Given the description of an element on the screen output the (x, y) to click on. 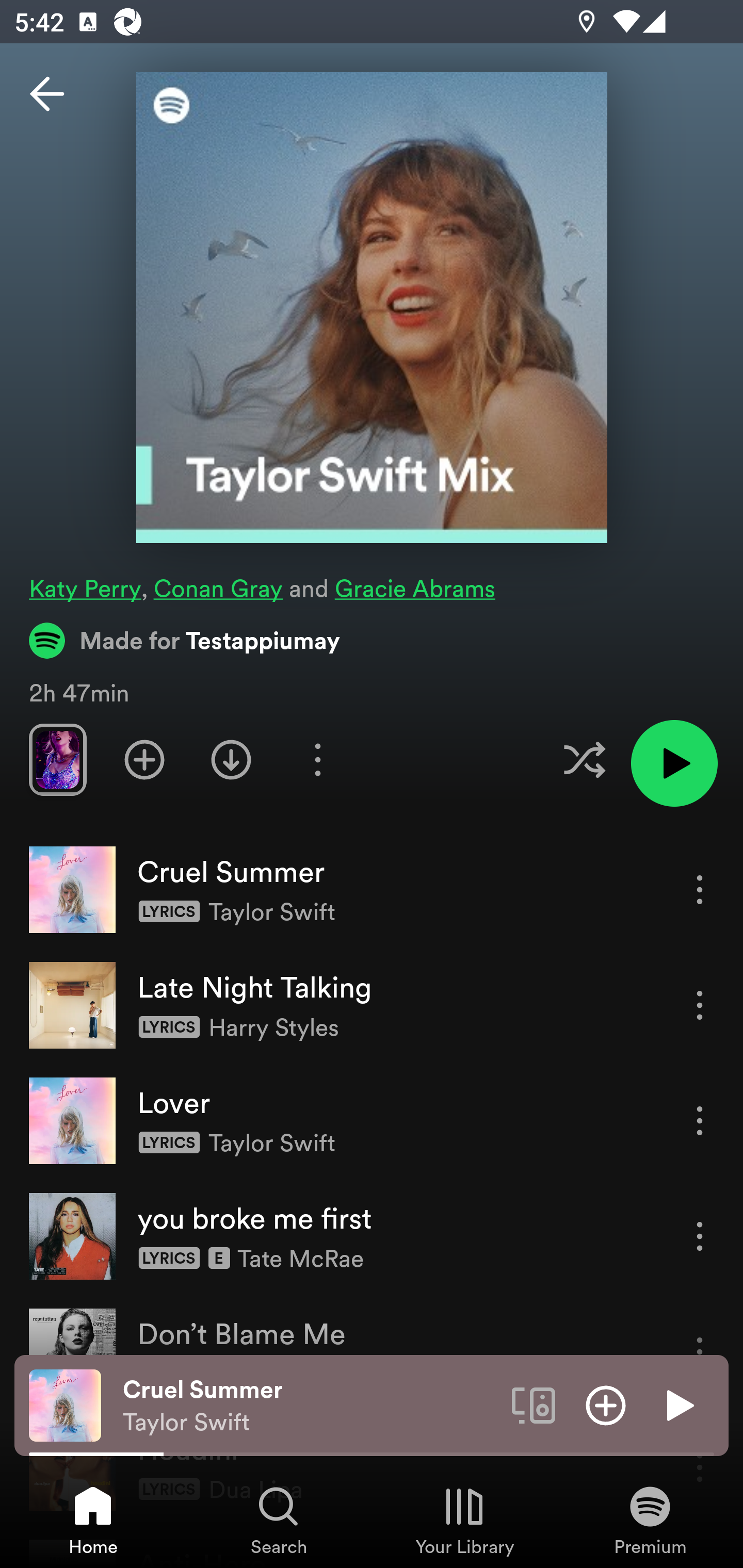
Back (46, 93)
Made for Testappiumay (184, 640)
Add playlist to Your Library (144, 759)
Download (230, 759)
More options for playlist Taylor Swift Mix (317, 759)
Enable shuffle for this playlist (583, 759)
Play playlist (674, 763)
More options for song Cruel Summer (699, 889)
More options for song Late Night Talking (699, 1004)
More options for song Lover (699, 1120)
More options for song you broke me first (699, 1236)
Cruel Summer Taylor Swift (309, 1405)
The cover art of the currently playing track (64, 1404)
Connect to a device. Opens the devices menu (533, 1404)
Add item (605, 1404)
Play (677, 1404)
Home, Tab 1 of 4 Home Home (92, 1519)
Search, Tab 2 of 4 Search Search (278, 1519)
Your Library, Tab 3 of 4 Your Library Your Library (464, 1519)
Premium, Tab 4 of 4 Premium Premium (650, 1519)
